Given the description of an element on the screen output the (x, y) to click on. 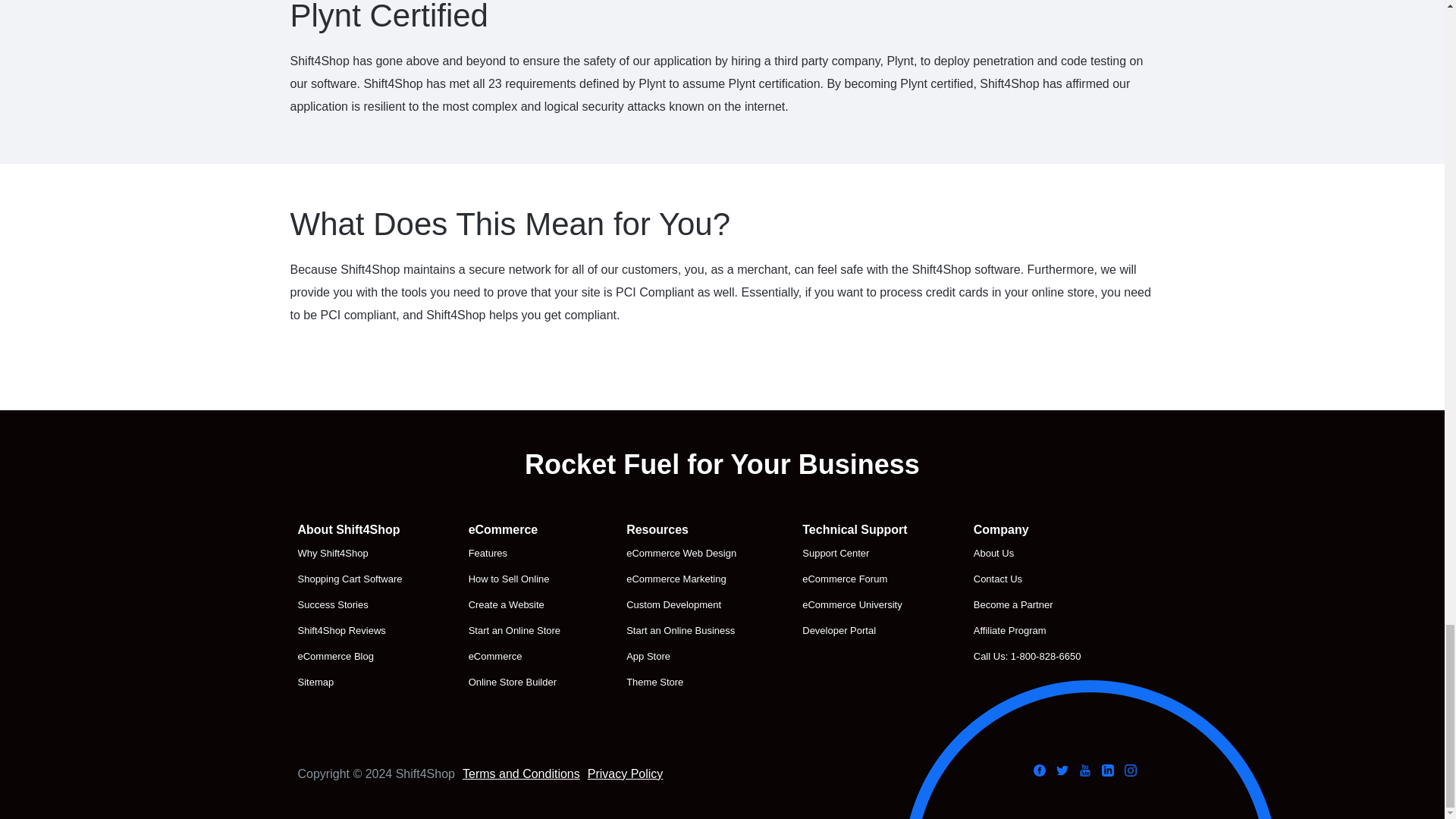
Shift4Shop Reviews (349, 630)
Success Stories (349, 604)
Shopping Cart Software (349, 578)
Custom Development (681, 604)
How to Sell Online (514, 578)
Why Shift4Shop (349, 553)
Start an Online Store (514, 630)
Online Store Builder (514, 681)
Create a Website (514, 604)
eCommerce Marketing (681, 578)
eCommerce Web Design (681, 553)
eCommerce (514, 656)
Features (514, 553)
Sitemap (349, 681)
eCommerce Blog (349, 656)
